Given the description of an element on the screen output the (x, y) to click on. 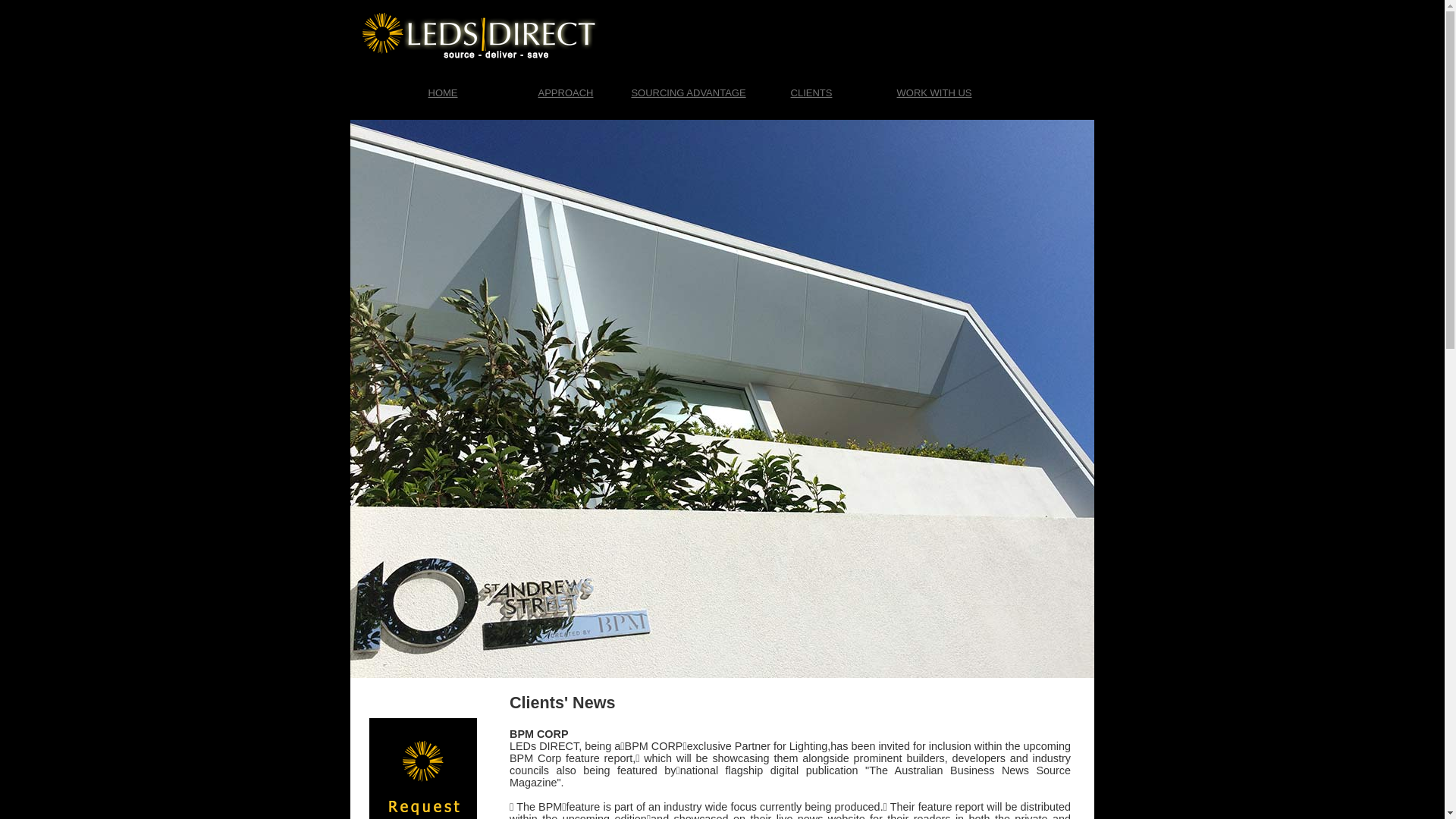
CLIENTS Element type: text (811, 93)
APPROACH Element type: text (565, 93)
SOURCING ADVANTAGE Element type: text (688, 93)
WORK WITH US Element type: text (933, 93)
HOME Element type: text (442, 93)
